Given the description of an element on the screen output the (x, y) to click on. 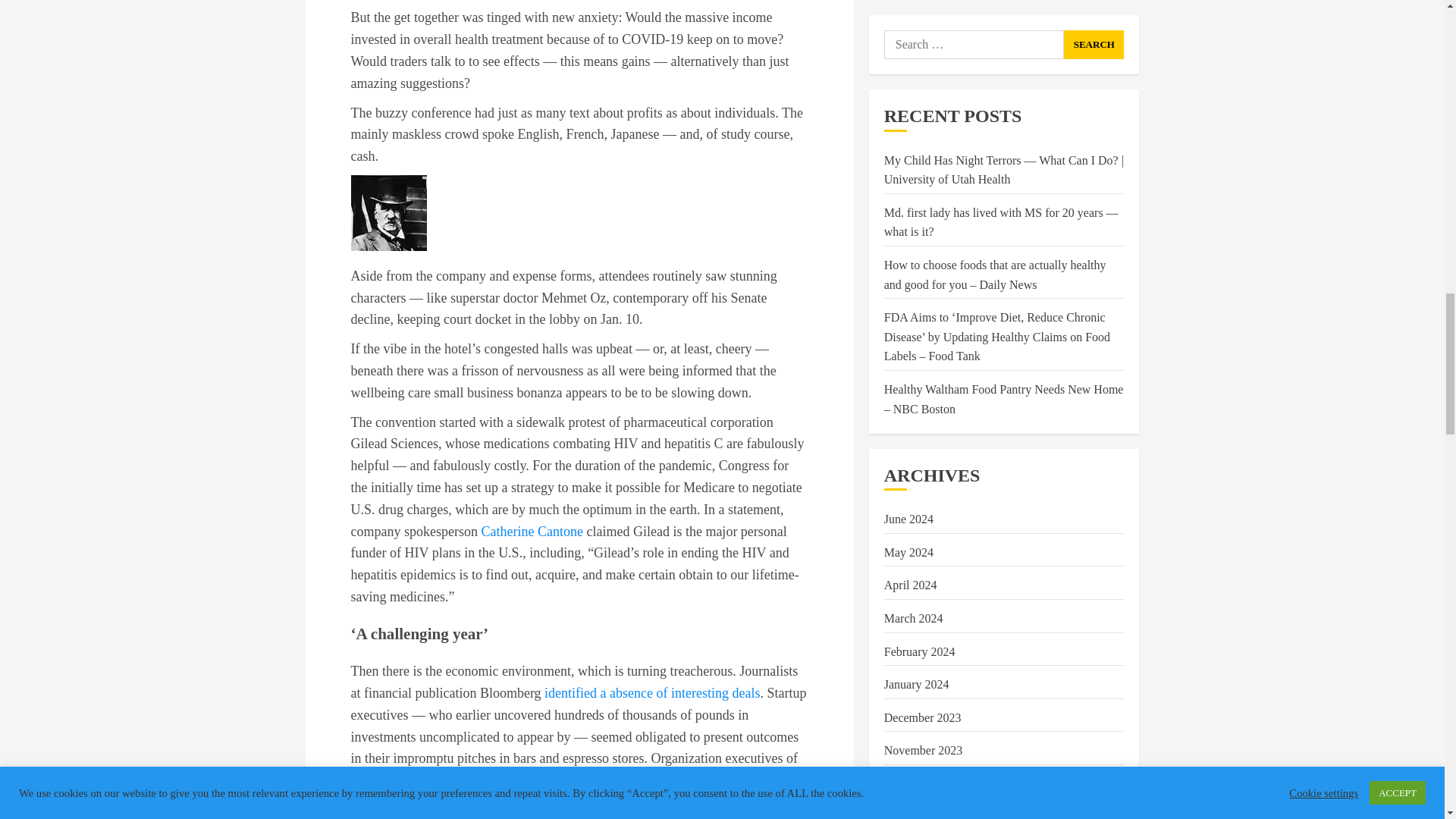
identified a absence of interesting deals (652, 693)
Catherine Cantone (531, 531)
